Given the description of an element on the screen output the (x, y) to click on. 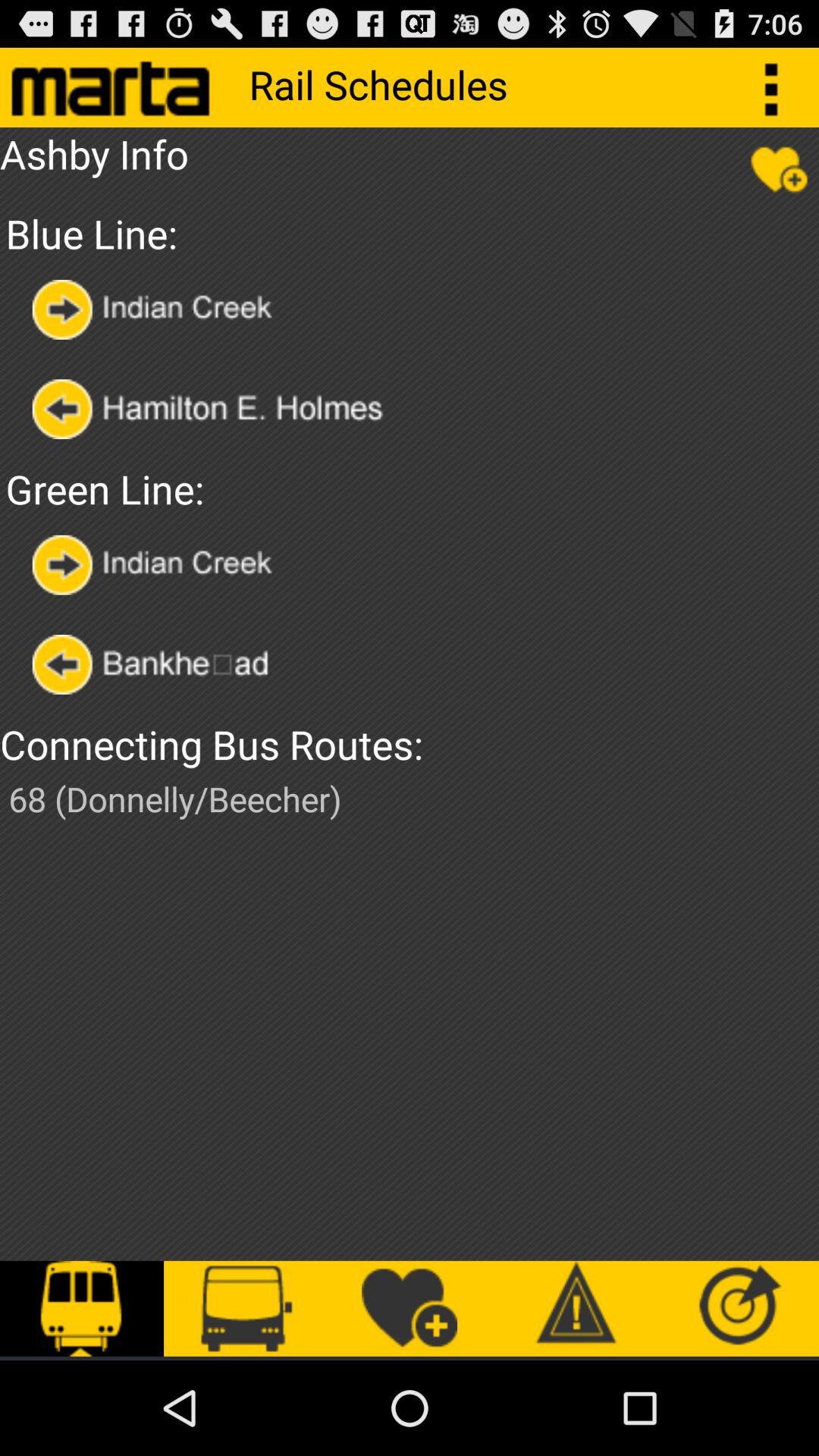
view bankhead route (163, 664)
